Given the description of an element on the screen output the (x, y) to click on. 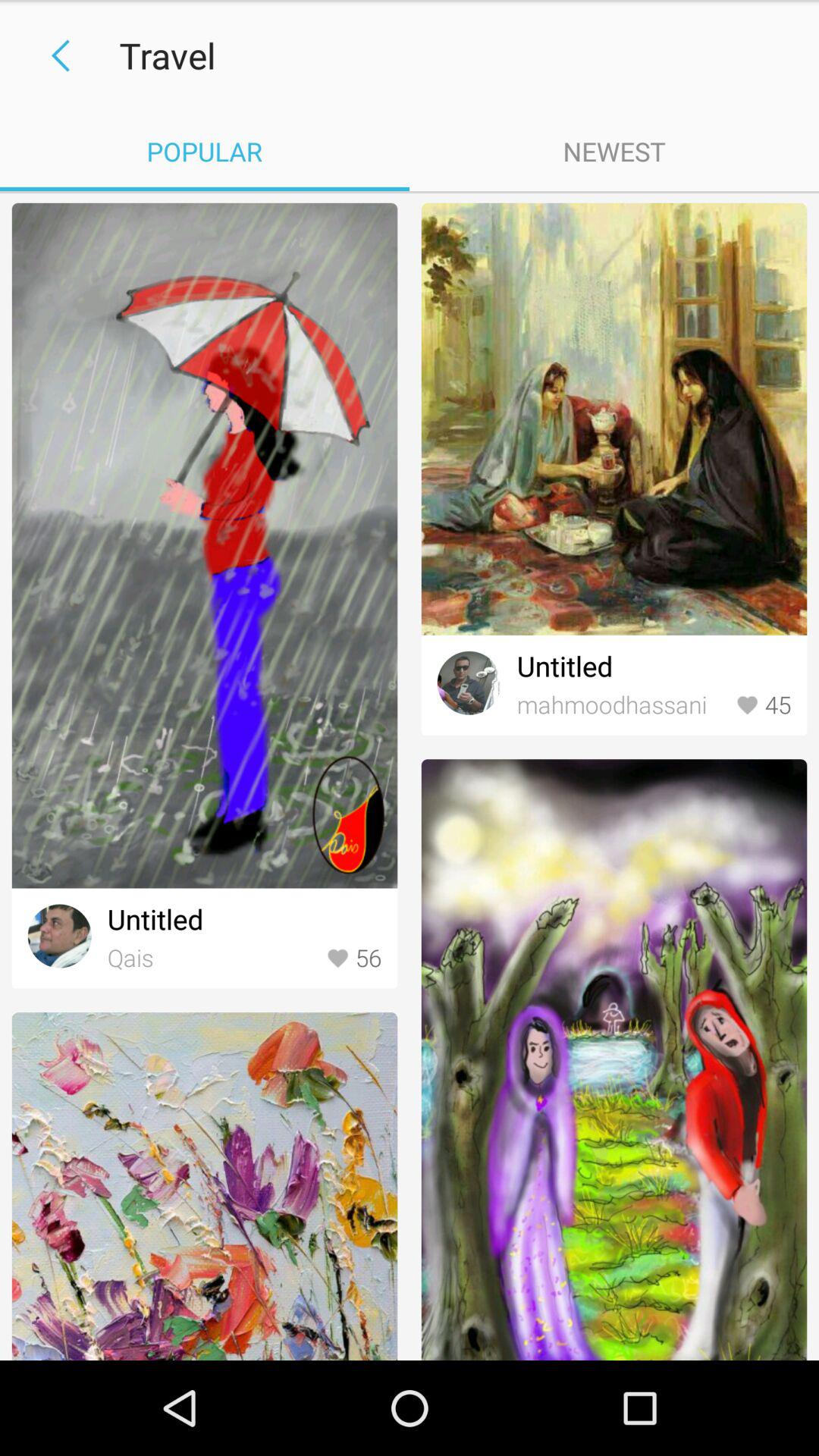
press the item to the left of travel item (55, 55)
